Given the description of an element on the screen output the (x, y) to click on. 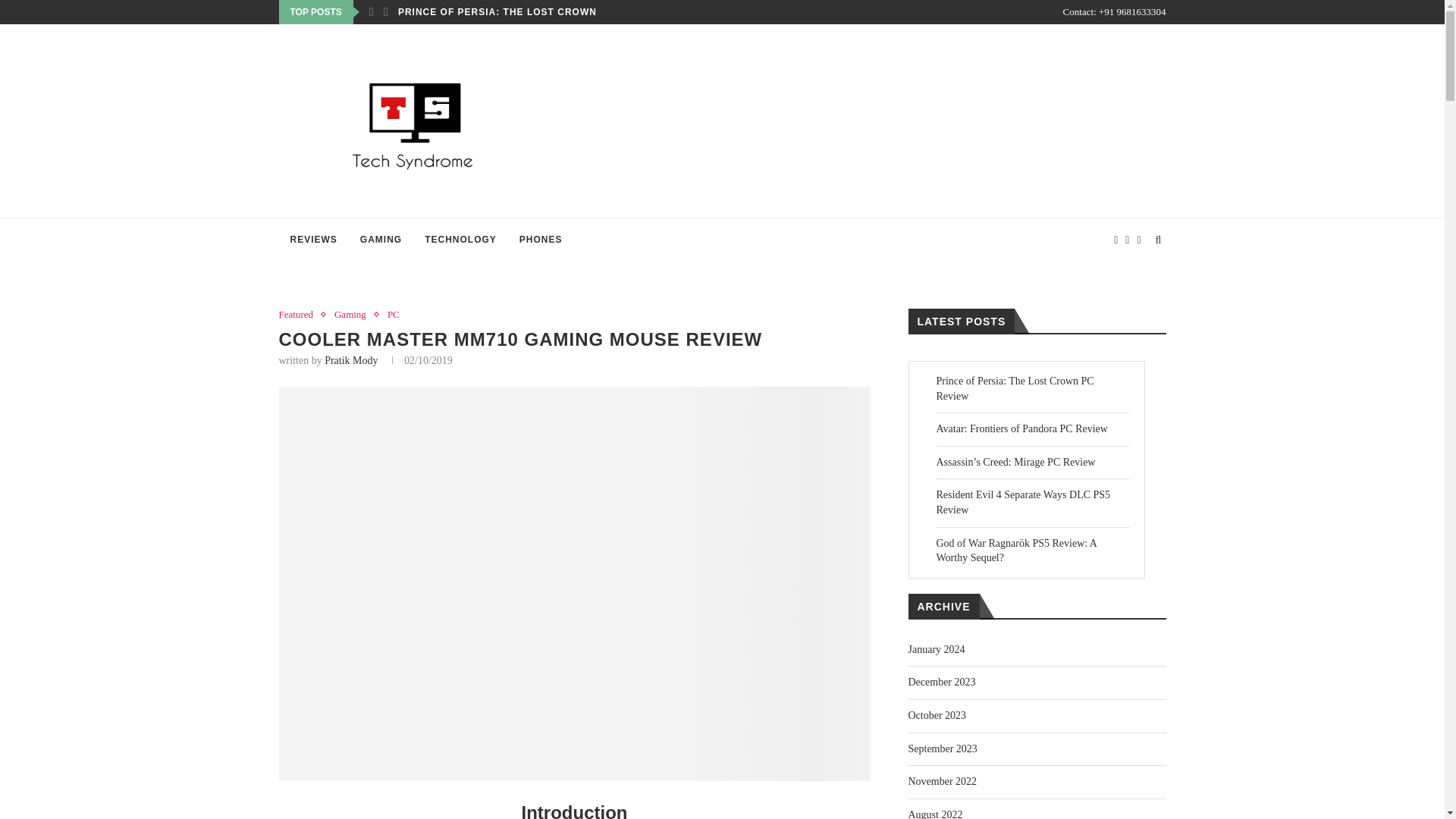
PRINCE OF PERSIA: THE LOST CROWN PC REVIEW (527, 12)
REVIEWS (314, 239)
Pratik Mody (350, 360)
TECHNOLOGY (460, 239)
GAMING (381, 239)
PHONES (540, 239)
PC (392, 314)
Featured (299, 314)
Gaming (354, 314)
